Given the description of an element on the screen output the (x, y) to click on. 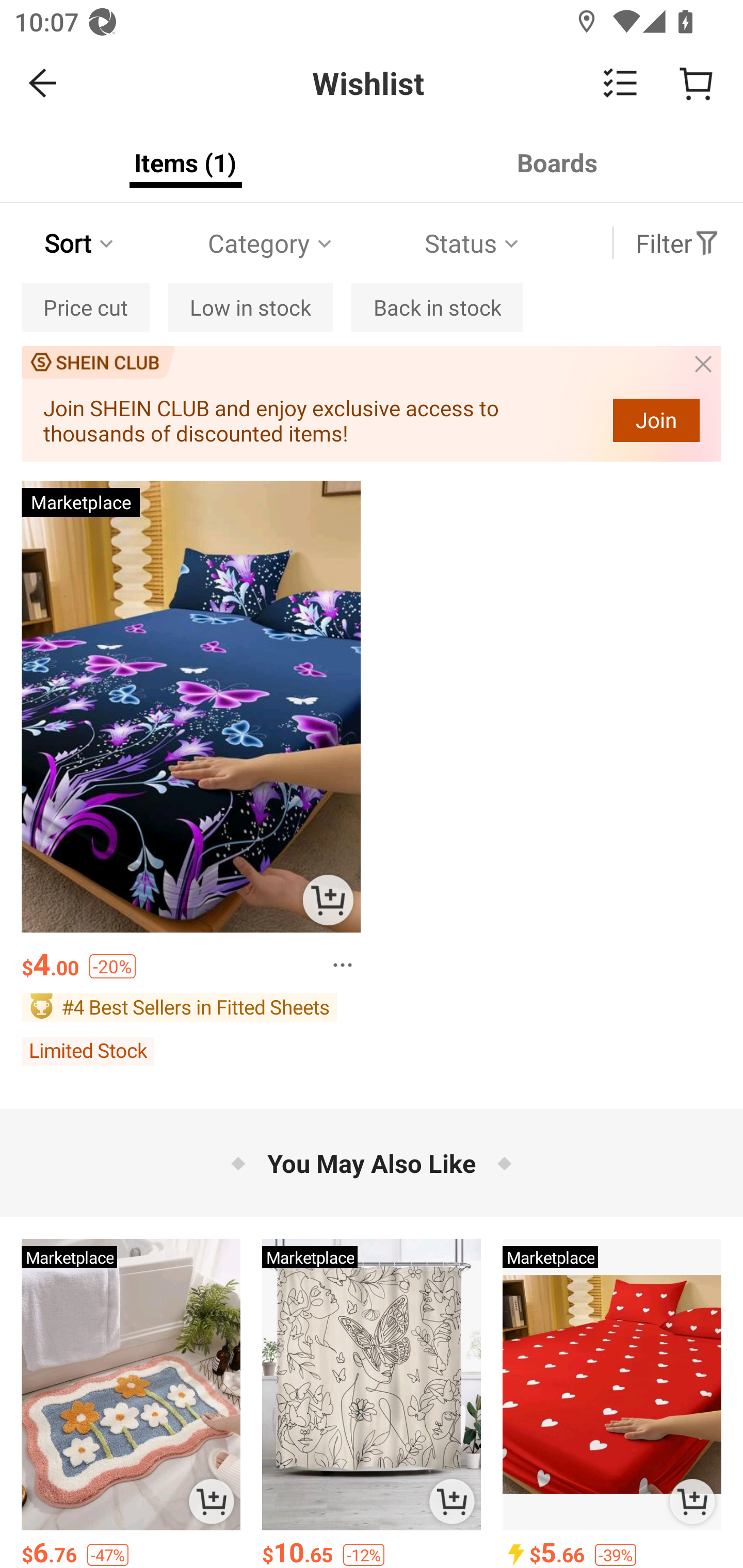
Wishlist (371, 82)
change view (620, 82)
BACK (43, 83)
Items (1) (185, 162)
Boards (557, 162)
Sort (80, 242)
Category (271, 242)
Status (473, 242)
Filter (677, 242)
Price cut (85, 307)
Low in stock (249, 307)
Back in stock (436, 307)
ADD TO CART (327, 899)
MORE (336, 959)
You May Also Like (371, 1162)
ADD TO CART (211, 1501)
ADD TO CART (451, 1501)
ADD TO CART (692, 1501)
